Given the description of an element on the screen output the (x, y) to click on. 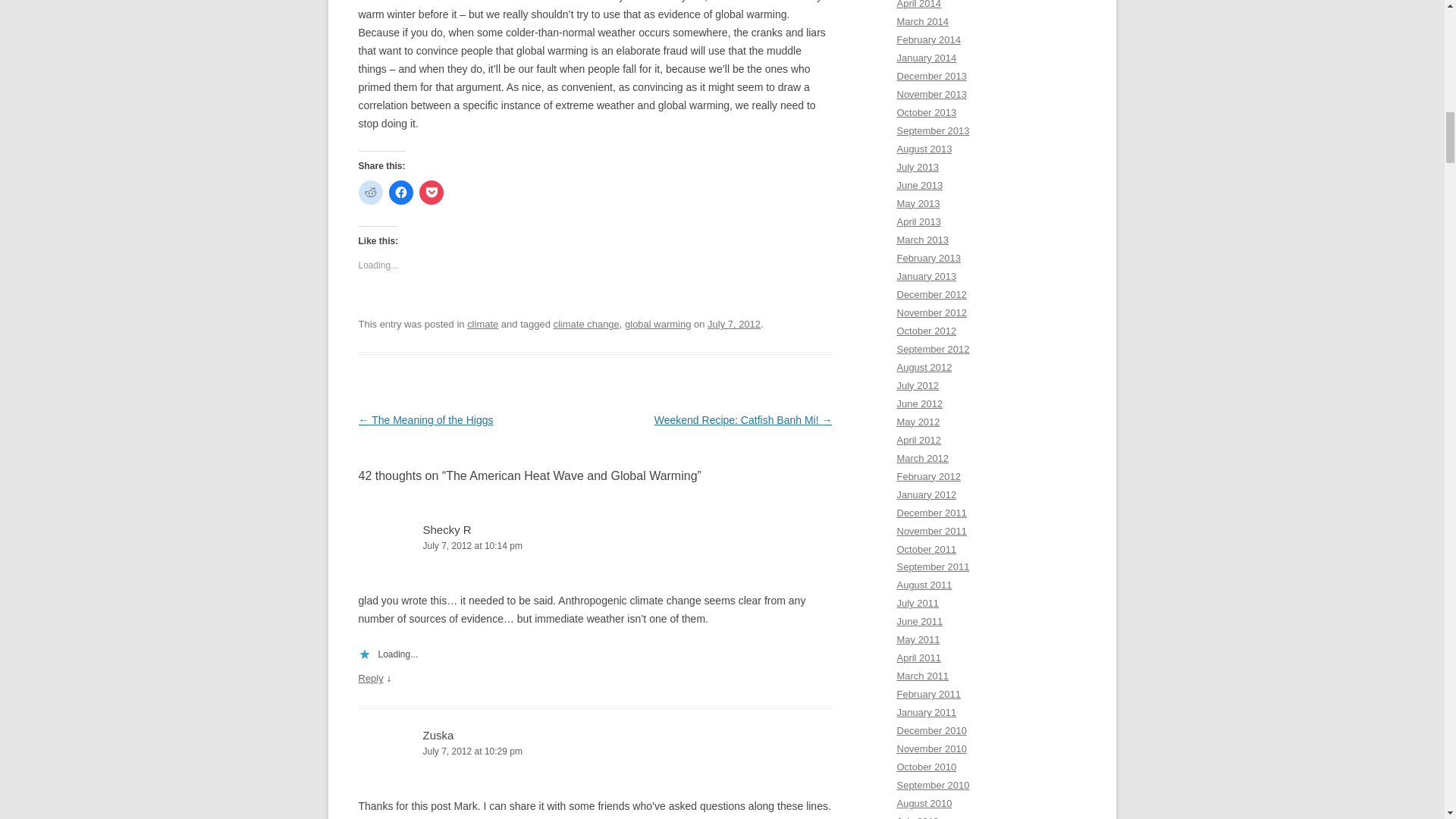
climate change (585, 324)
July 7, 2012 (733, 324)
9:11 pm (733, 324)
Shecky R (447, 529)
Reply (370, 677)
Click to share on Facebook (400, 192)
July 7, 2012 at 10:14 pm (594, 546)
Click to share on Pocket (430, 192)
climate (482, 324)
global warming (657, 324)
